Given the description of an element on the screen output the (x, y) to click on. 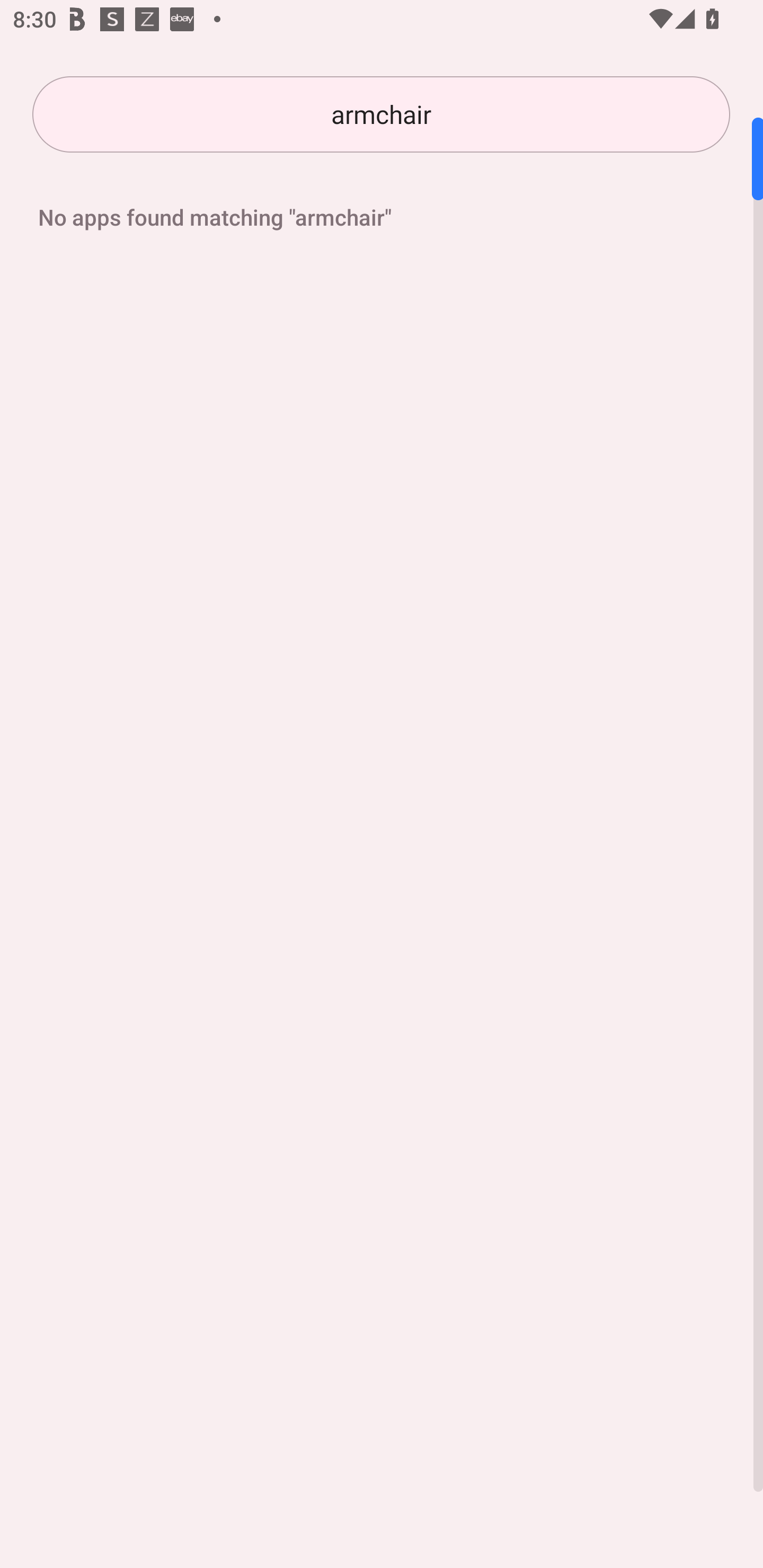
armchair (381, 114)
